Given the description of an element on the screen output the (x, y) to click on. 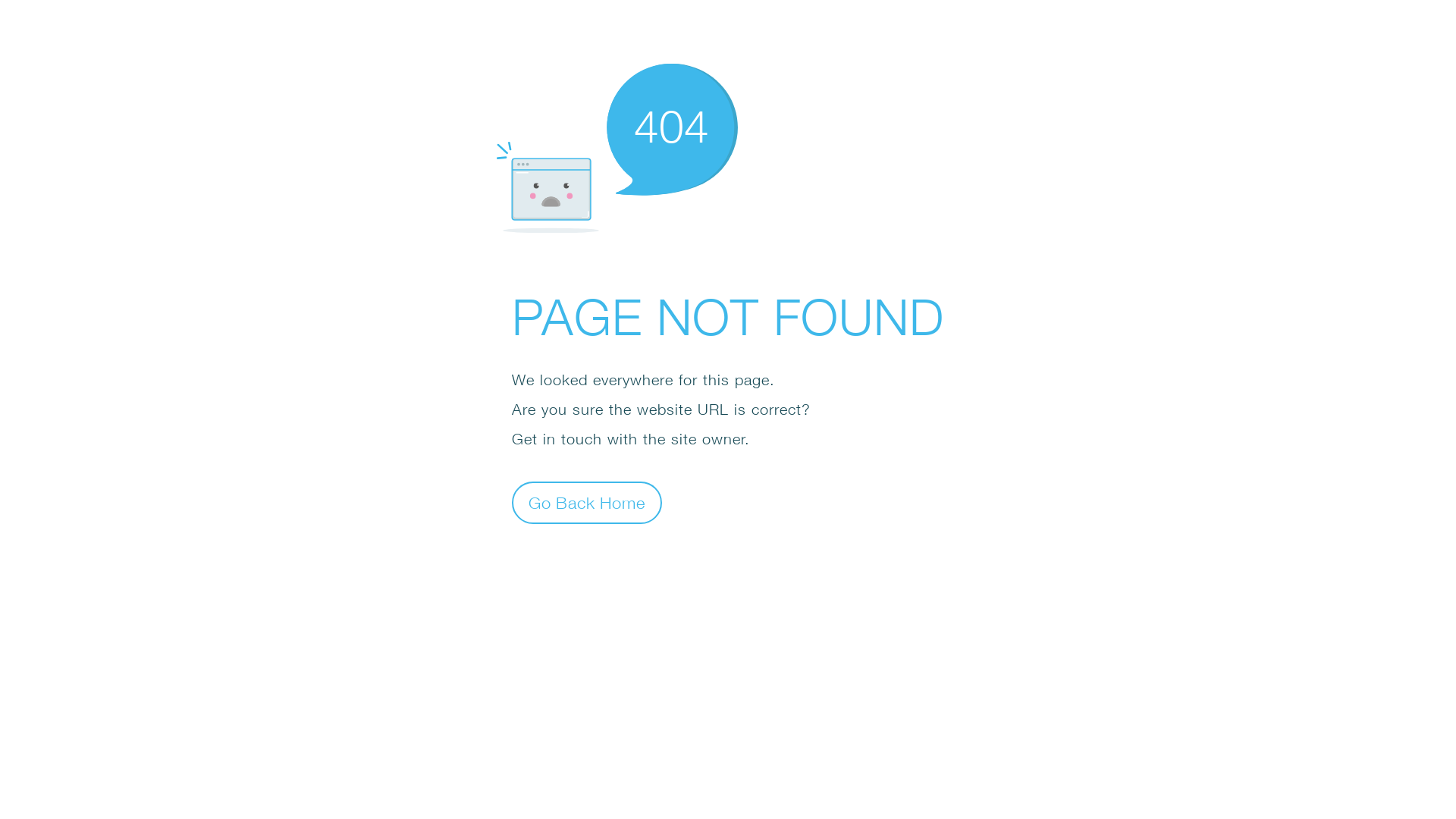
Go Back Home Element type: text (586, 502)
